Given the description of an element on the screen output the (x, y) to click on. 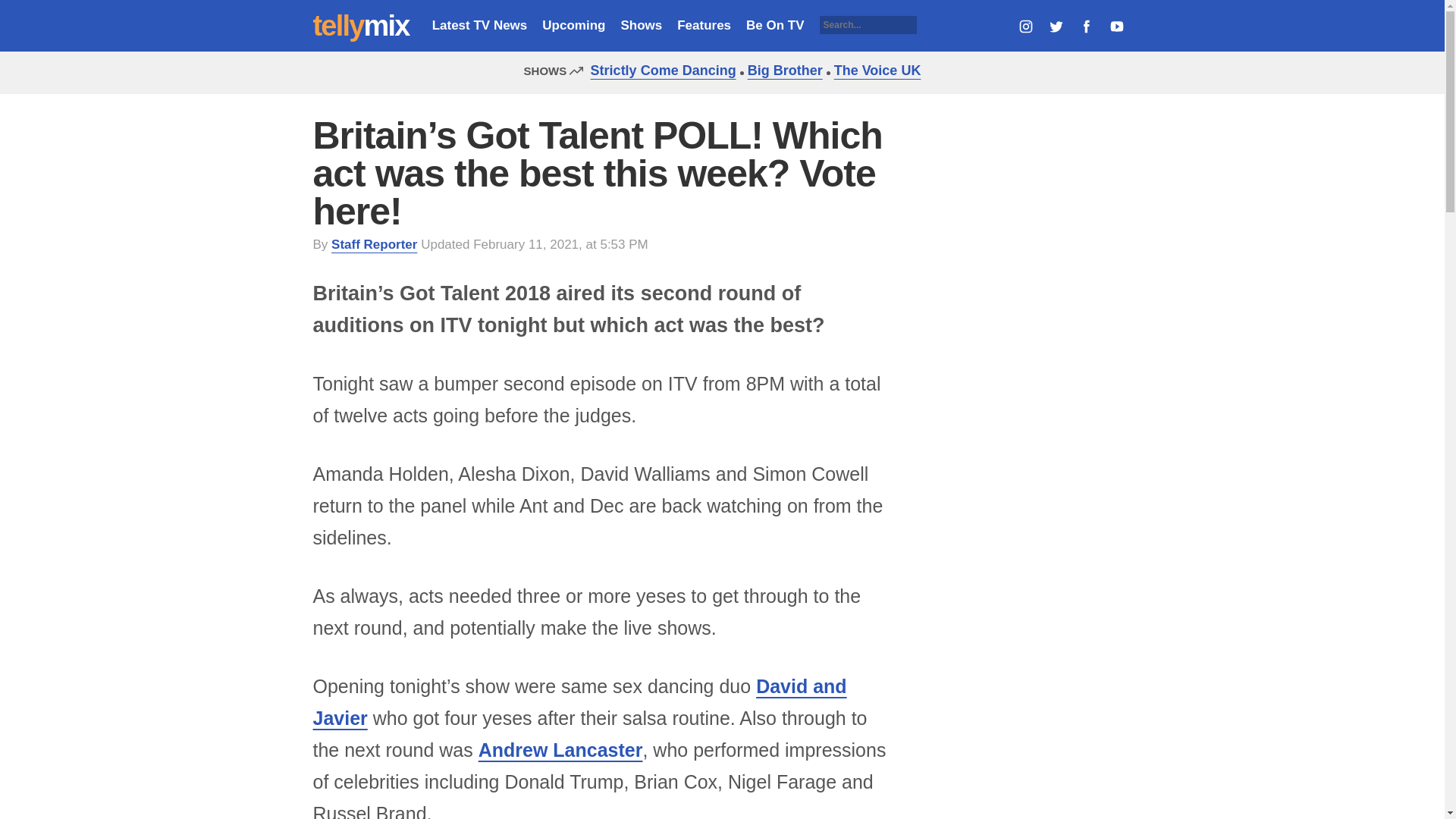
Big Brother (780, 70)
Latest TV News (479, 25)
Strictly Come Dancing (659, 70)
Staff Reporter (373, 244)
David and Javier (579, 701)
Andrew Lancaster (561, 749)
The Voice UK (874, 70)
tellymix (361, 25)
Shows (641, 25)
Upcoming (573, 25)
